Given the description of an element on the screen output the (x, y) to click on. 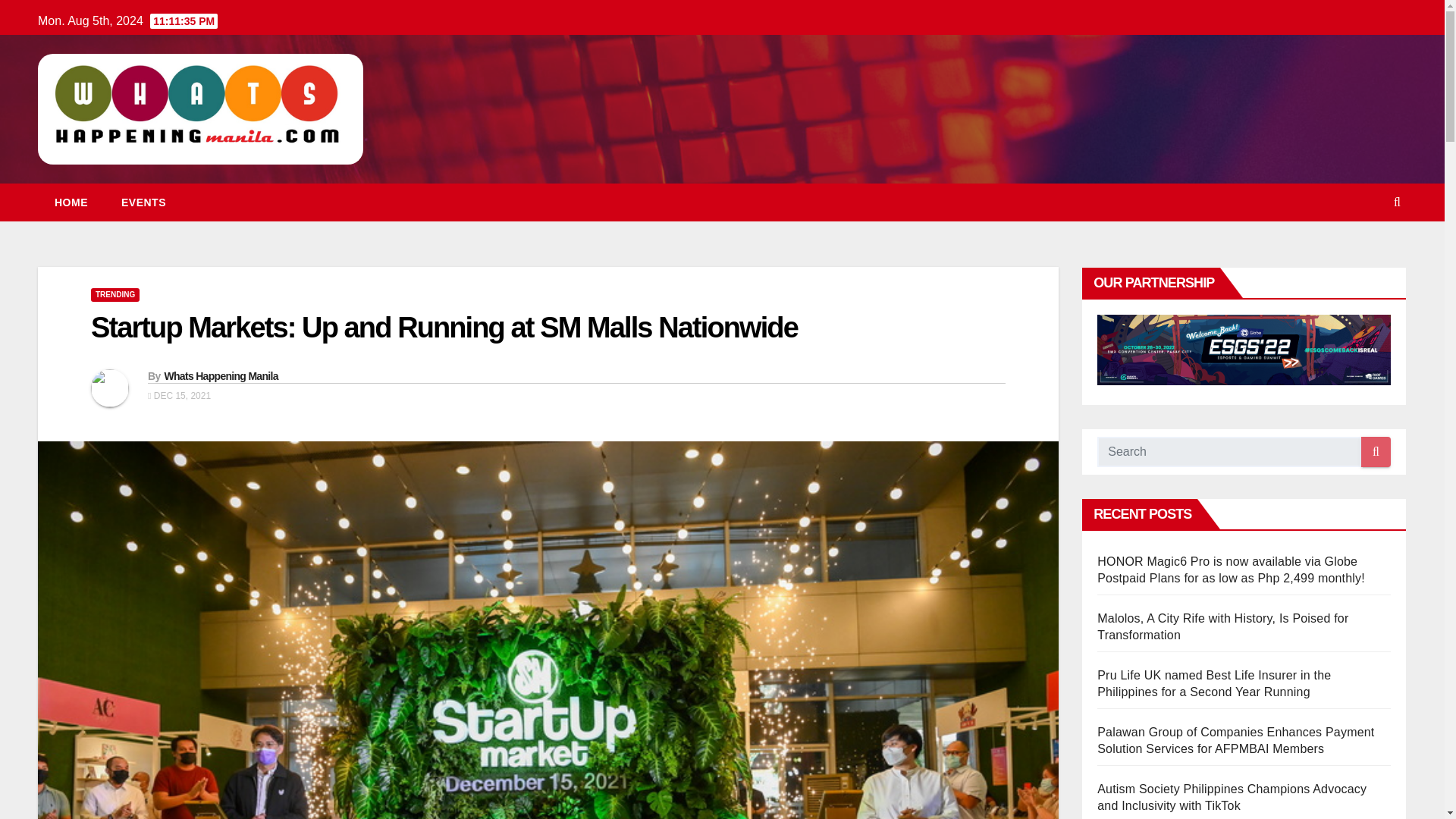
Startup Markets: Up and Running at SM Malls Nationwide (443, 327)
HOME (70, 202)
Whats Happening Manila (220, 376)
TRENDING (114, 295)
Home (70, 202)
EVENTS (143, 202)
